Given the description of an element on the screen output the (x, y) to click on. 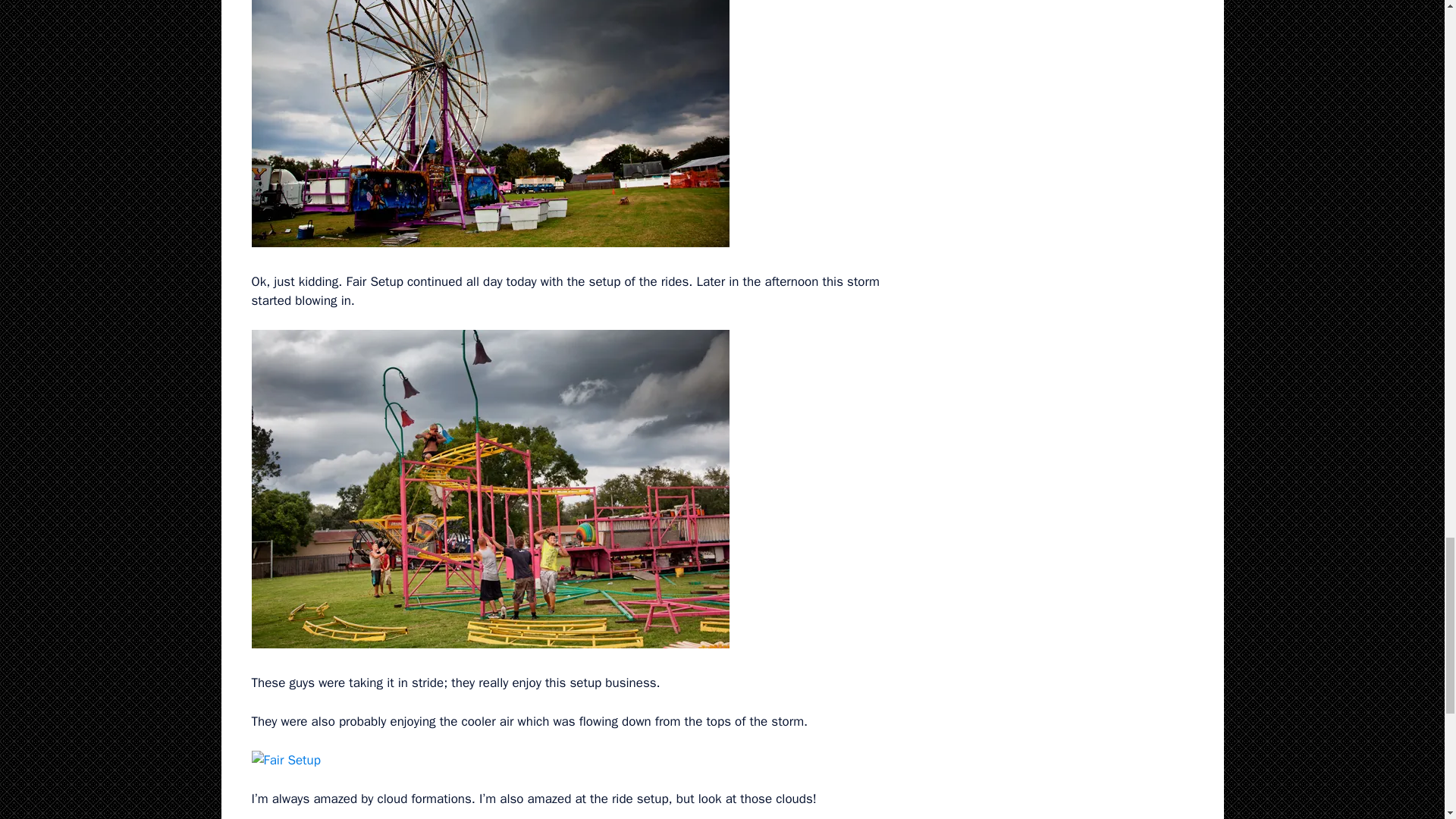
setup3 (490, 123)
setup5 (285, 760)
